Given the description of an element on the screen output the (x, y) to click on. 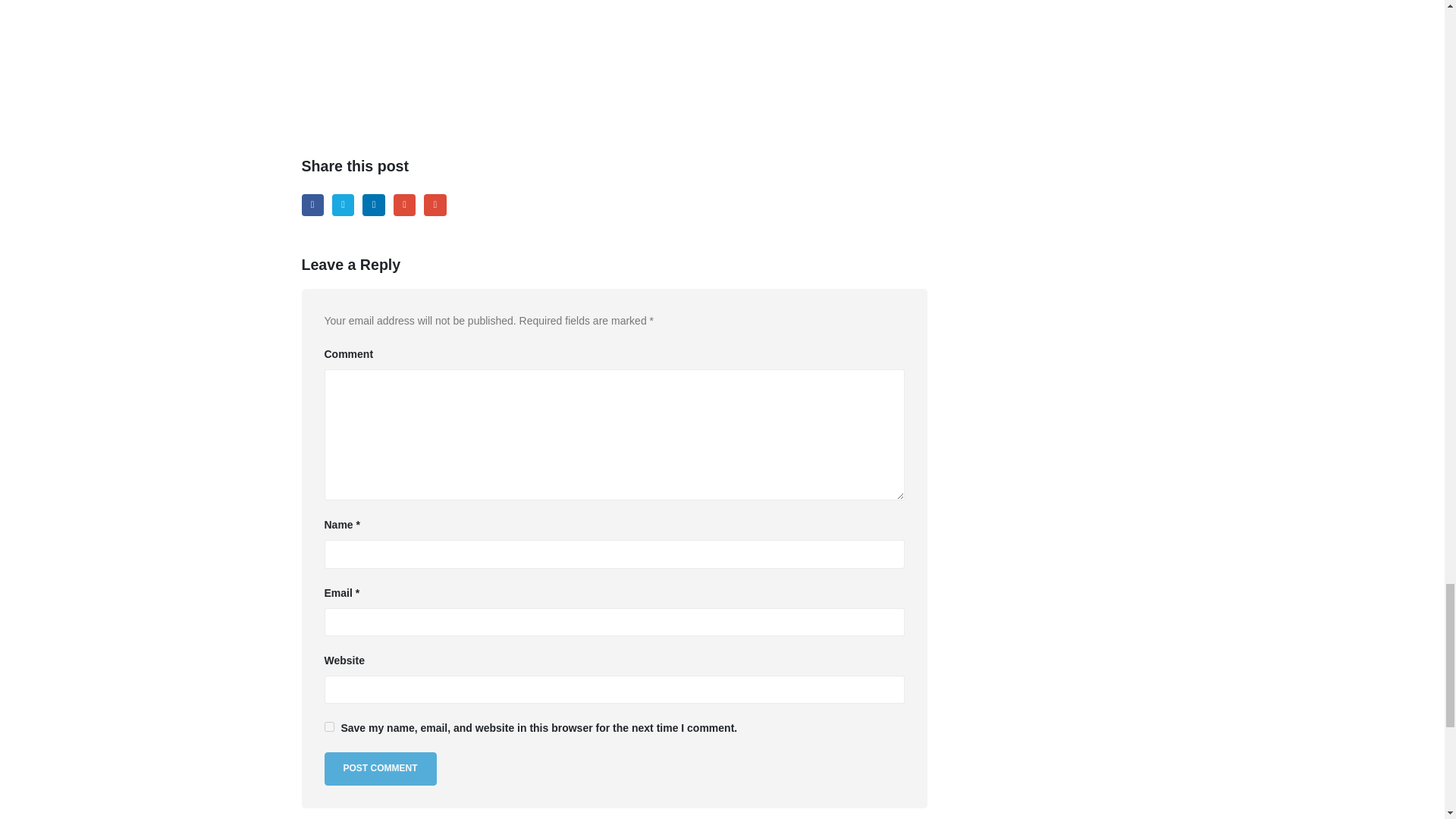
Facebook (312, 205)
Post Comment (380, 768)
Twitter (342, 205)
yes (329, 726)
LinkedIn (373, 205)
Email (434, 205)
Twitter (342, 205)
Facebook (312, 205)
